Given the description of an element on the screen output the (x, y) to click on. 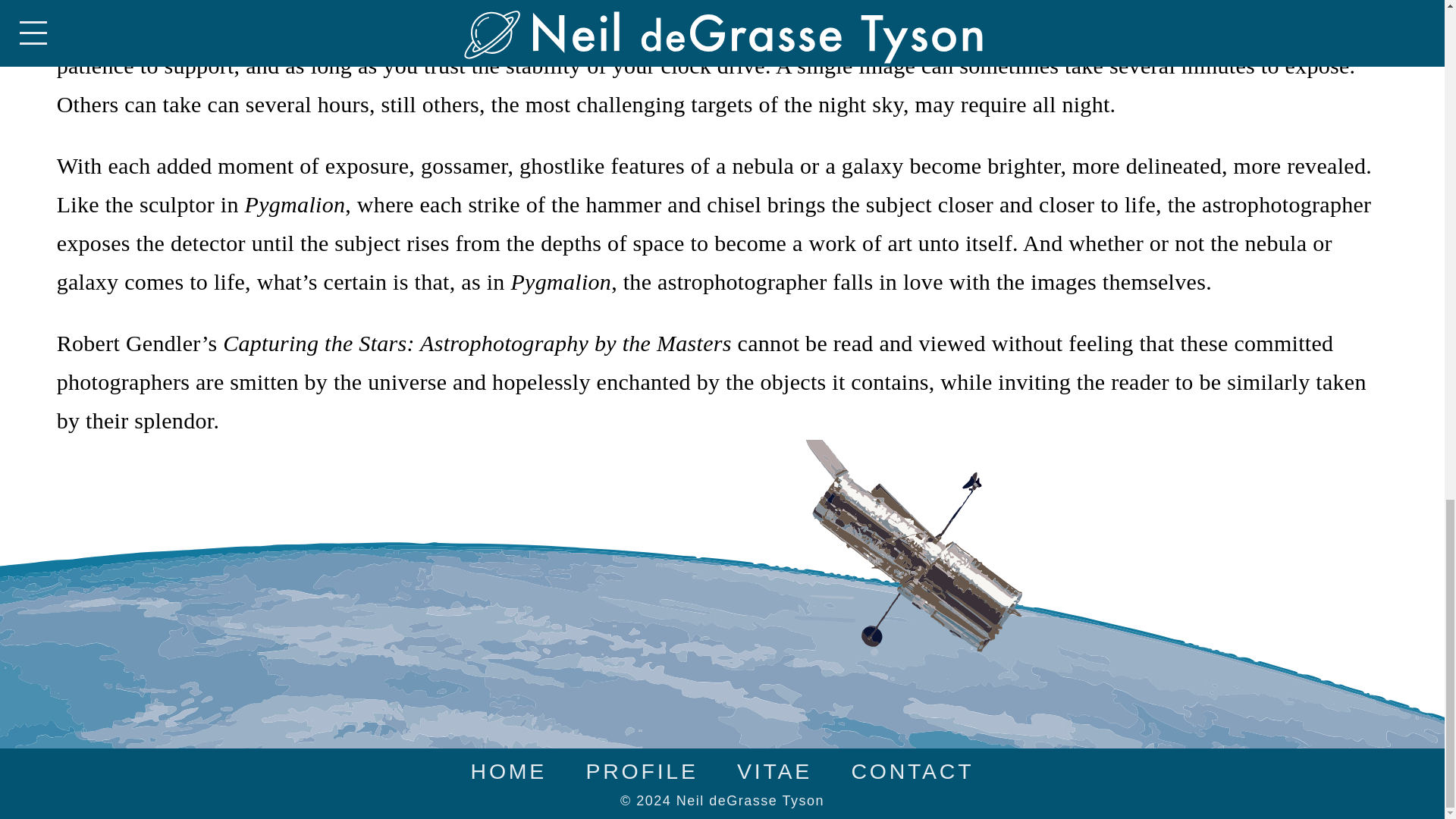
HOME (508, 770)
VITAE (774, 770)
PROFILE (641, 770)
CONTACT (912, 770)
